Given the description of an element on the screen output the (x, y) to click on. 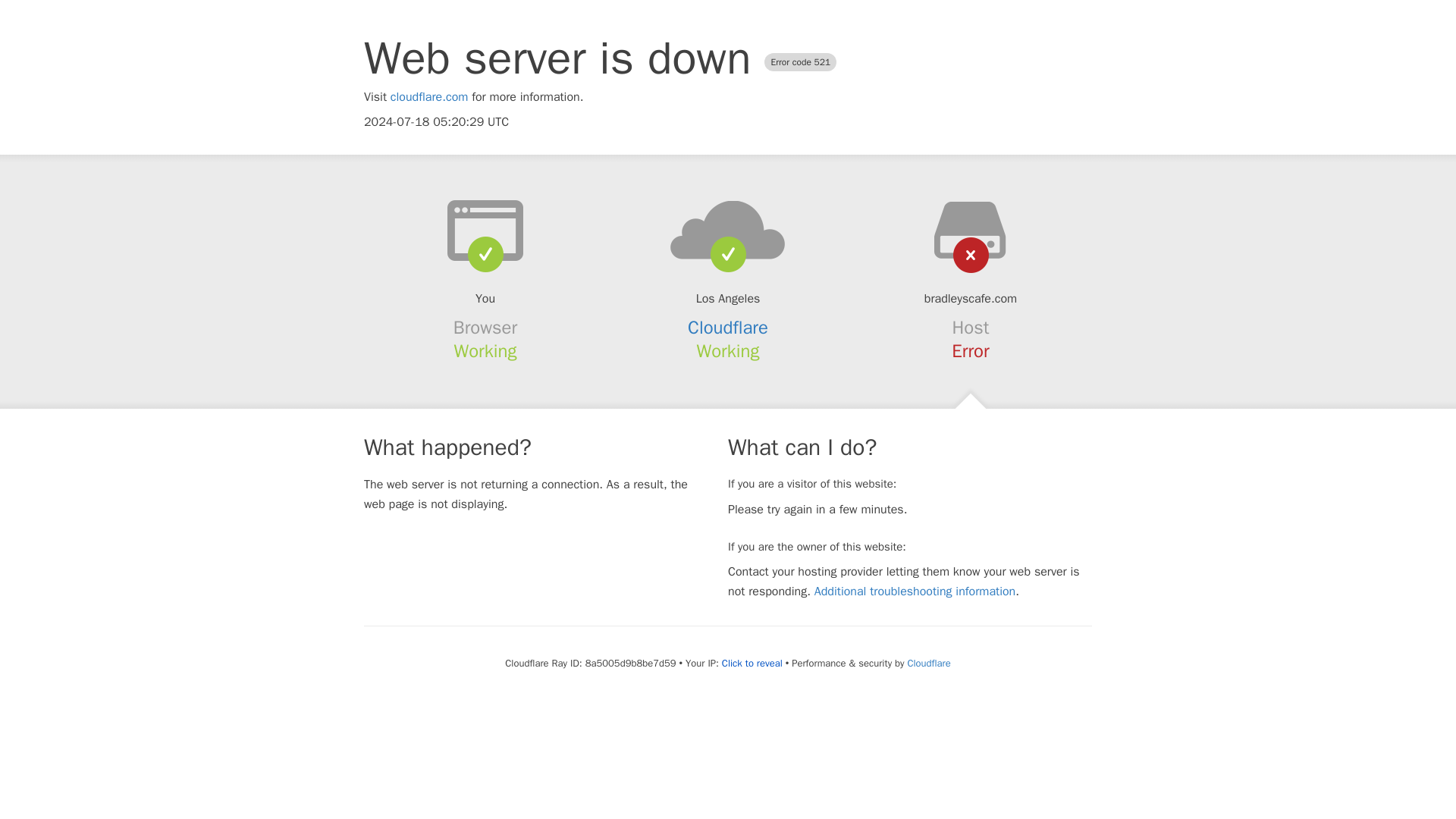
Additional troubleshooting information (913, 590)
Cloudflare (928, 662)
Cloudflare (727, 327)
Click to reveal (752, 663)
cloudflare.com (429, 96)
